Given the description of an element on the screen output the (x, y) to click on. 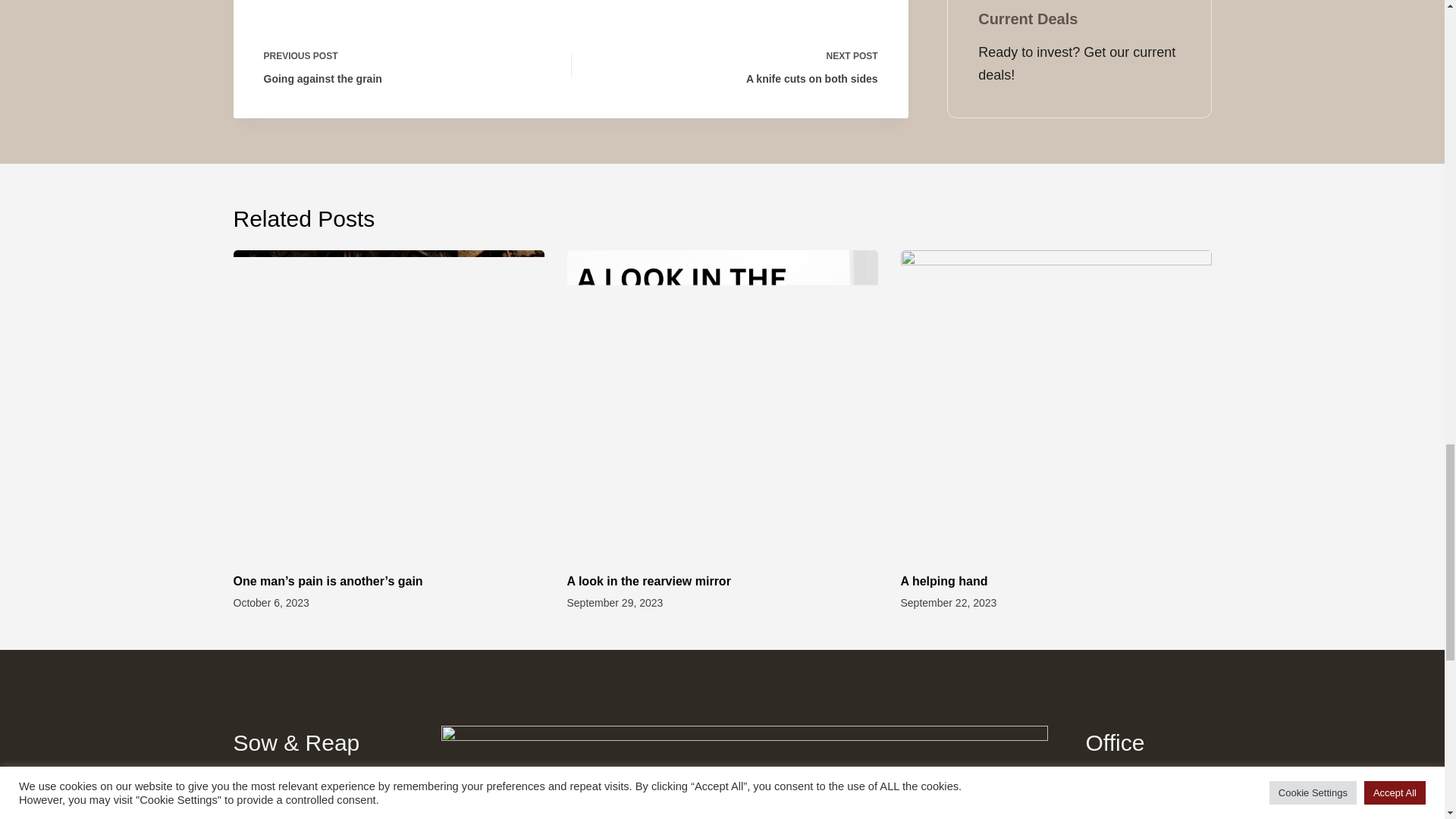
A look in the rearview mirror   (736, 65)
A helping hand (652, 581)
